Given the description of an element on the screen output the (x, y) to click on. 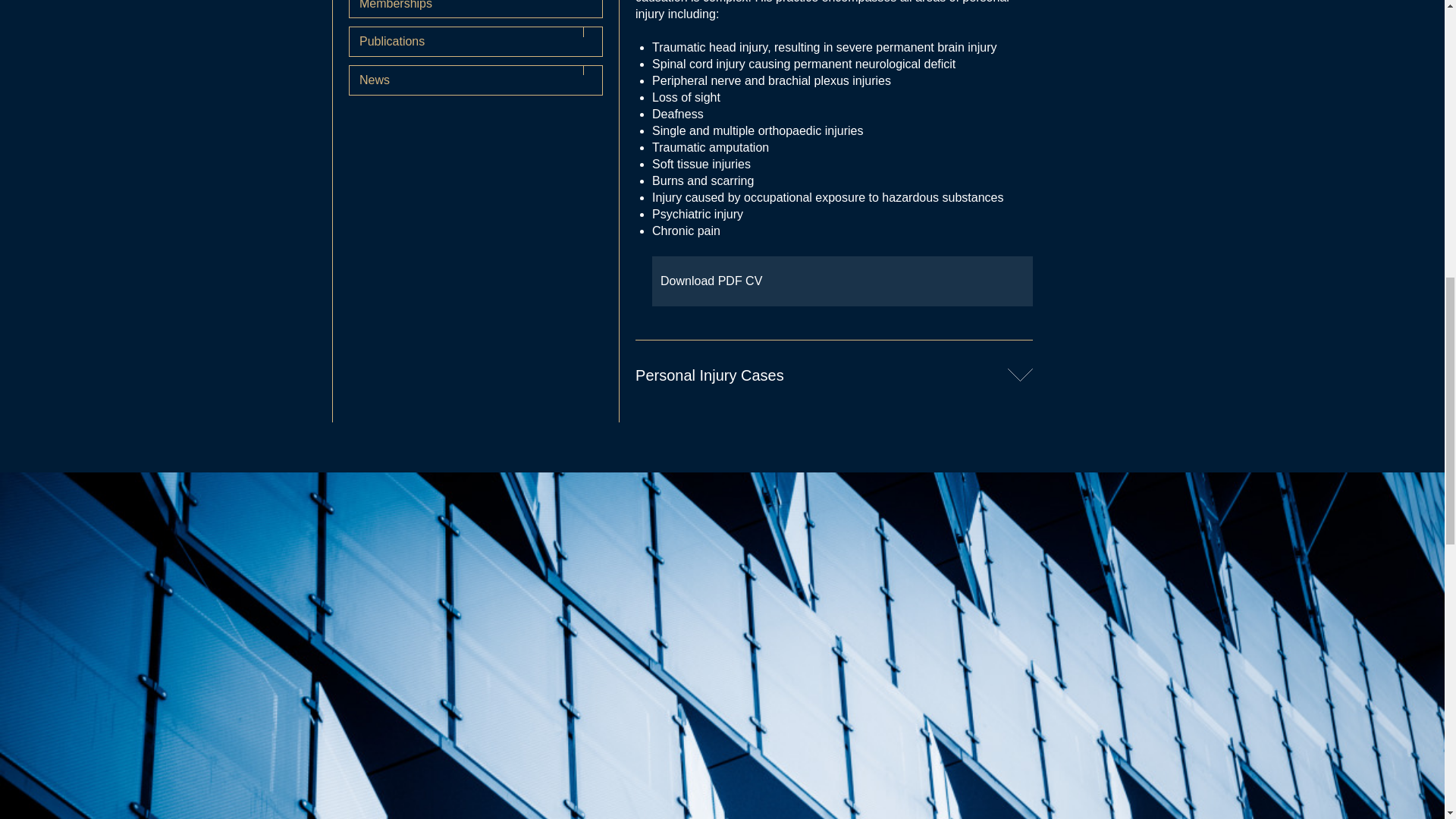
Download PDF CV (842, 281)
